Given the description of an element on the screen output the (x, y) to click on. 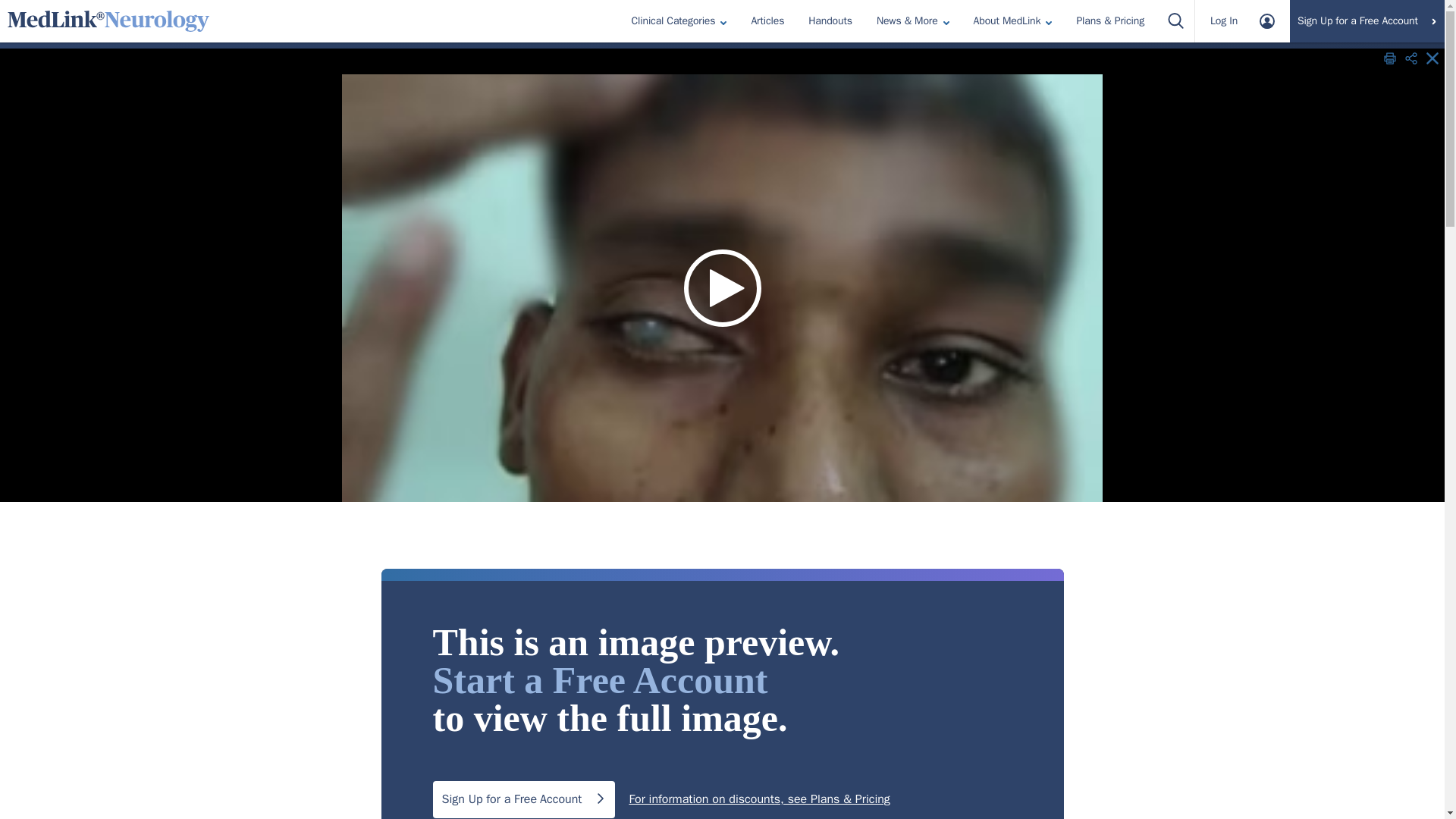
Clinical Categories (678, 20)
